Given the description of an element on the screen output the (x, y) to click on. 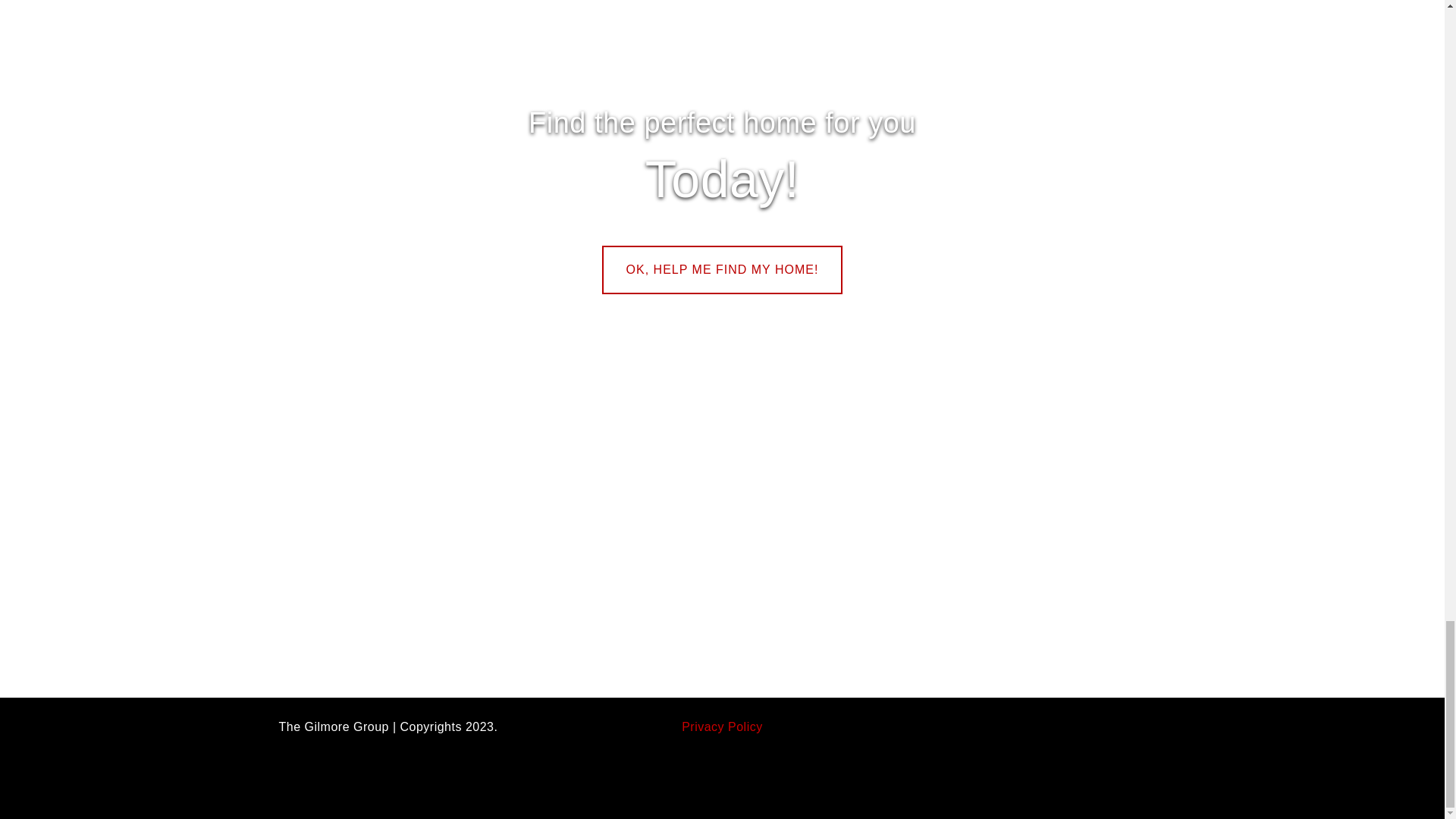
Privacy Policy (721, 726)
OK, HELP ME FIND MY HOME! (722, 269)
